Given the description of an element on the screen output the (x, y) to click on. 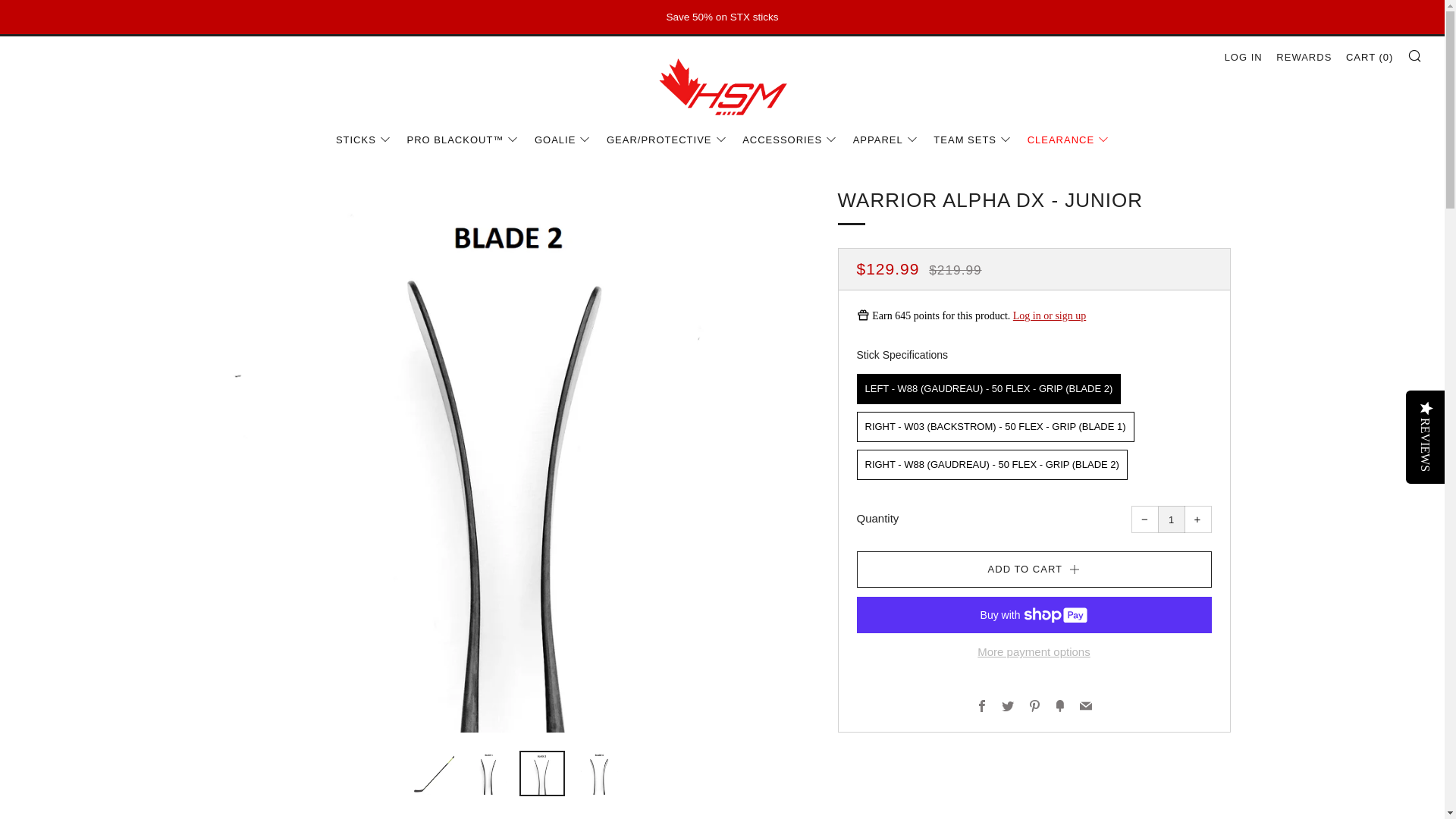
1 (1171, 519)
